Given the description of an element on the screen output the (x, y) to click on. 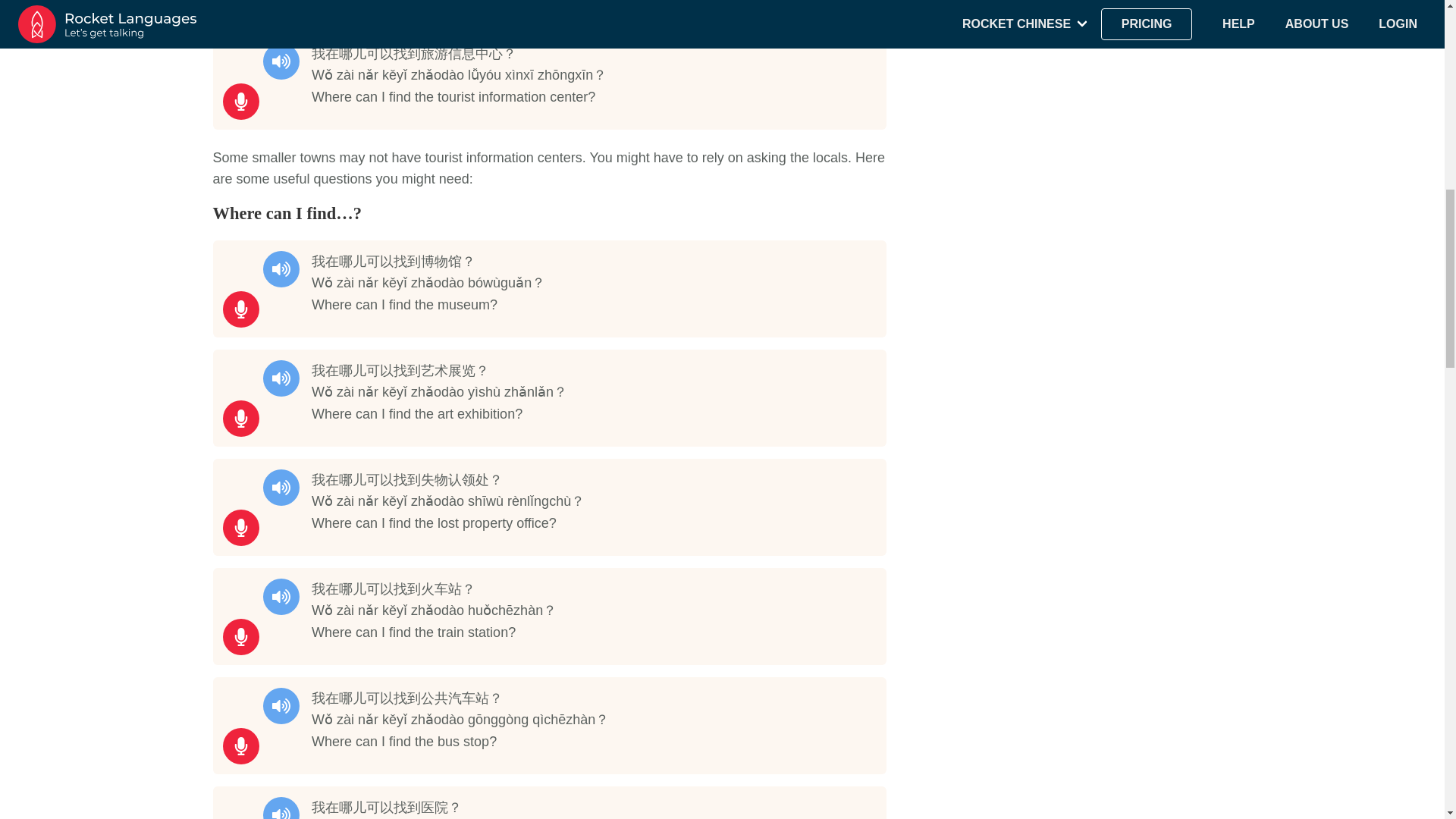
Record (240, 418)
Record (240, 637)
Record (240, 527)
Record (240, 101)
Record (240, 309)
Record (240, 746)
